Given the description of an element on the screen output the (x, y) to click on. 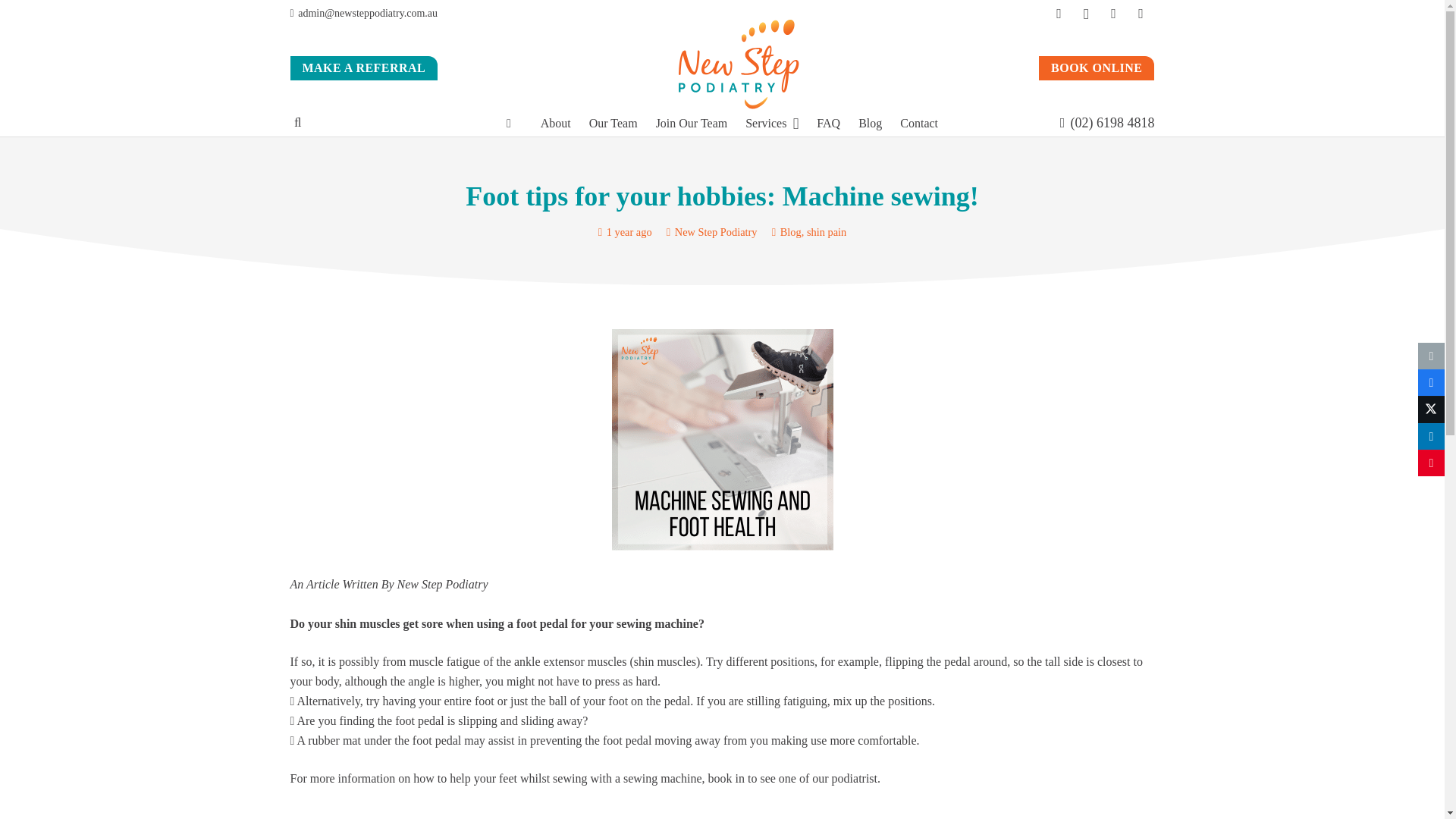
Contact (919, 123)
YouTube (1140, 13)
shin pain (825, 232)
About (555, 123)
Our Team (612, 123)
Join Our Team (691, 123)
FAQ (828, 123)
Instagram (1086, 13)
BOOK ONLINE (1096, 68)
LinkedIn (1113, 13)
